Given the description of an element on the screen output the (x, y) to click on. 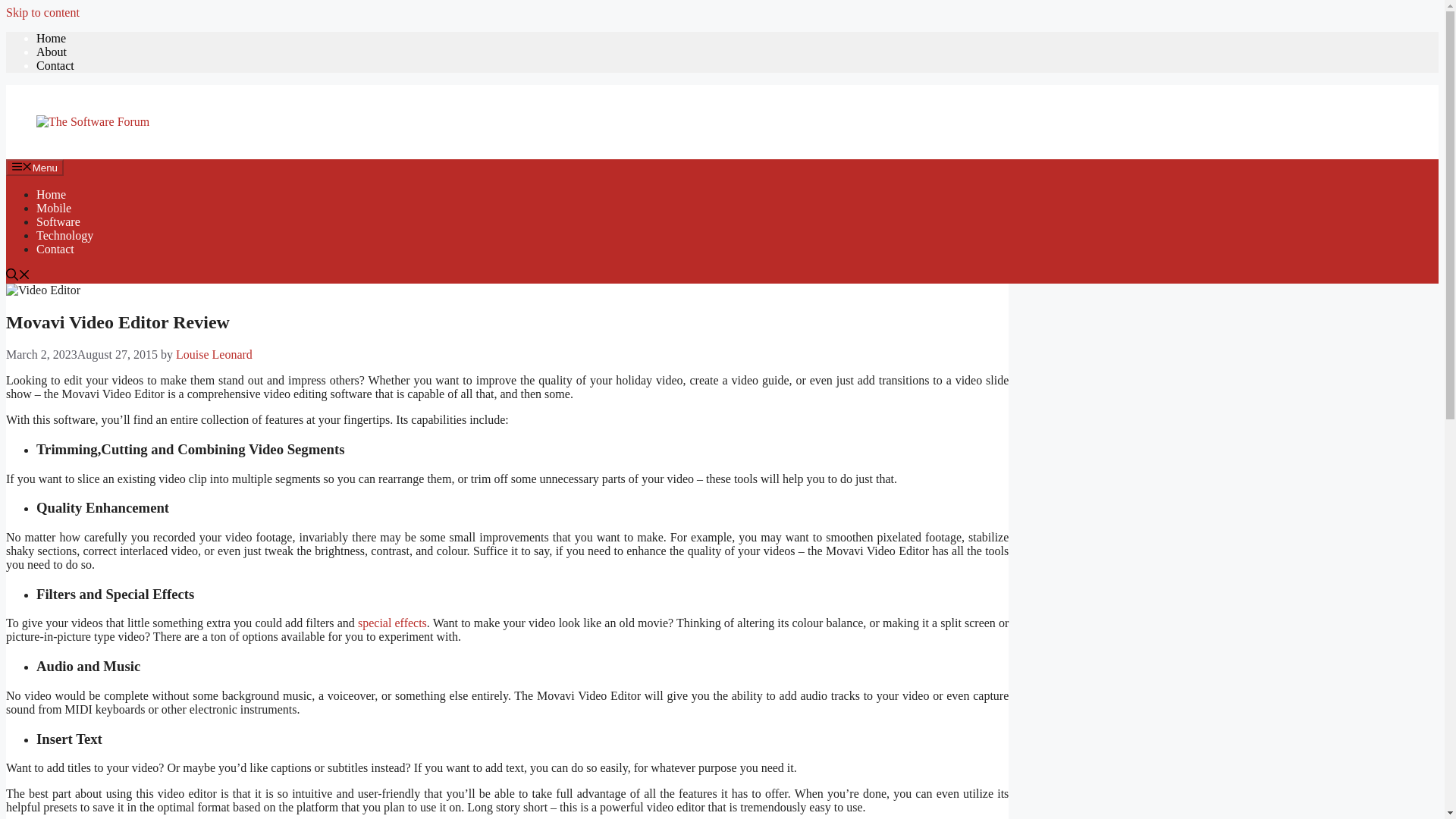
About (51, 51)
Skip to content (42, 11)
Louise Leonard (213, 354)
Home (50, 38)
Skip to content (42, 11)
Home (50, 194)
Mobile (53, 207)
Contact (55, 65)
Software (58, 221)
special effects (392, 622)
